Given the description of an element on the screen output the (x, y) to click on. 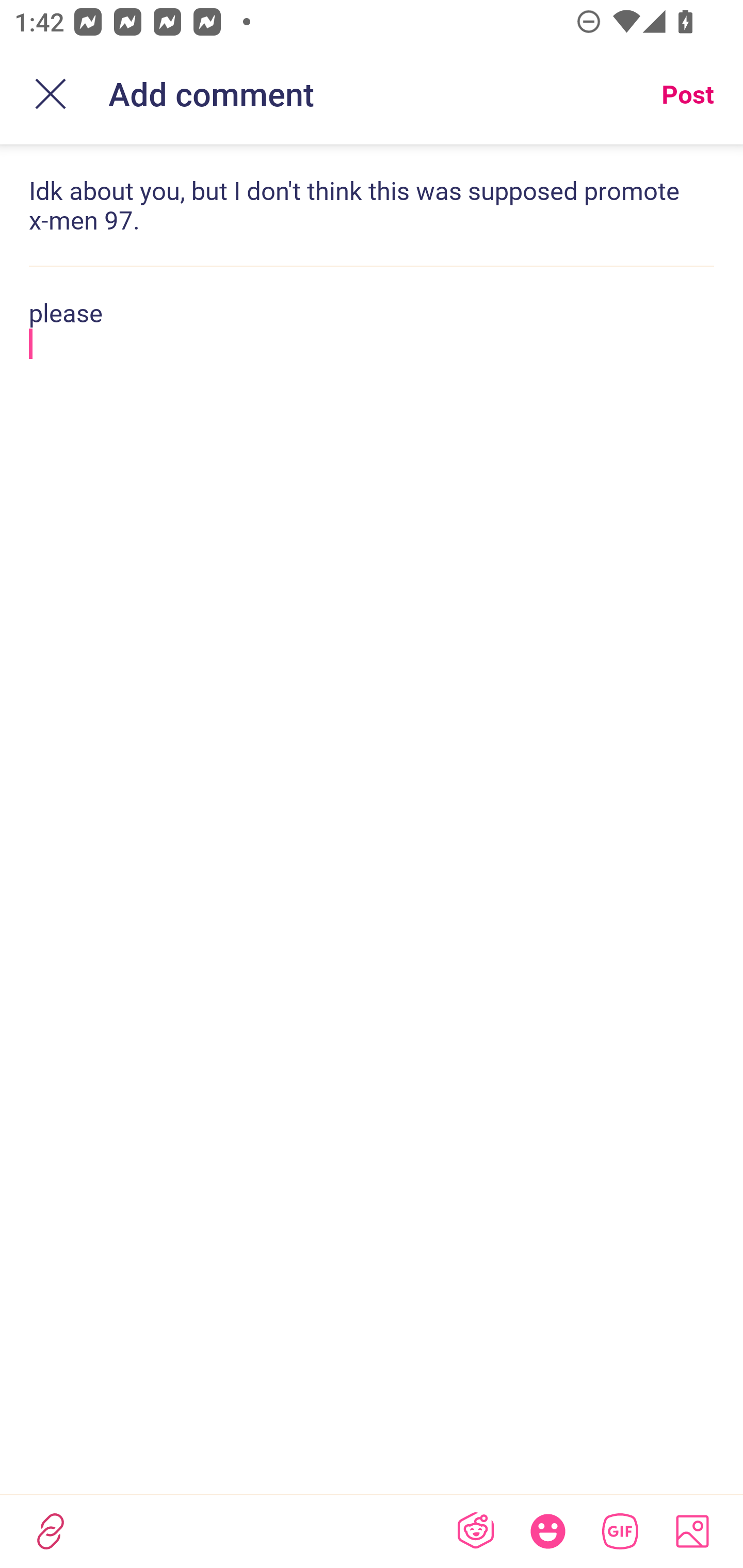
Close (50, 93)
Post (687, 94)
please
 (371, 326)
Insert a link (50, 1530)
Show Expressions (475, 1530)
Toggle emote keyboard (547, 1530)
Search GIFs (619, 1530)
Add an image (692, 1530)
